Given the description of an element on the screen output the (x, y) to click on. 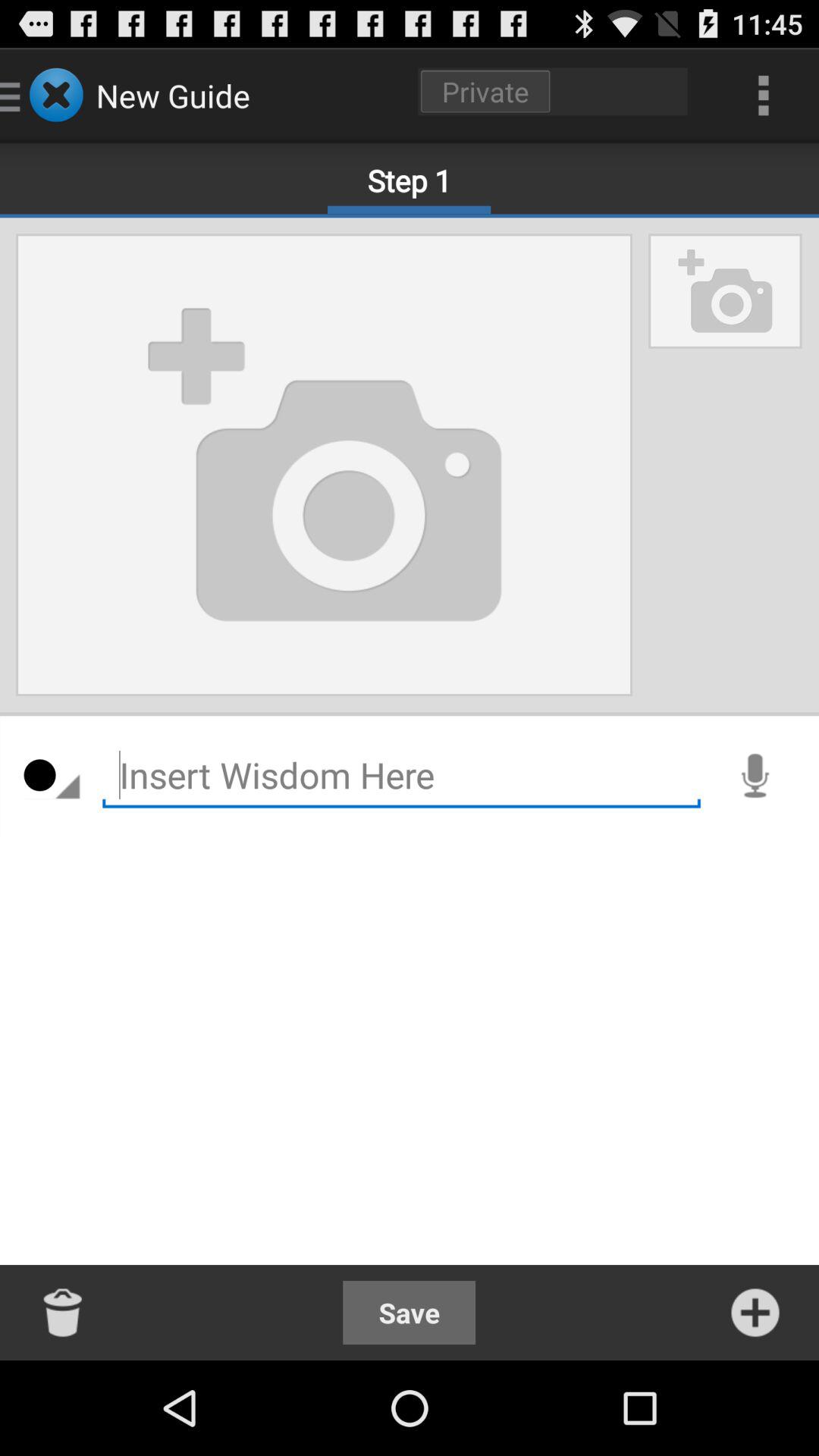
select the item on the left (51, 775)
